Given the description of an element on the screen output the (x, y) to click on. 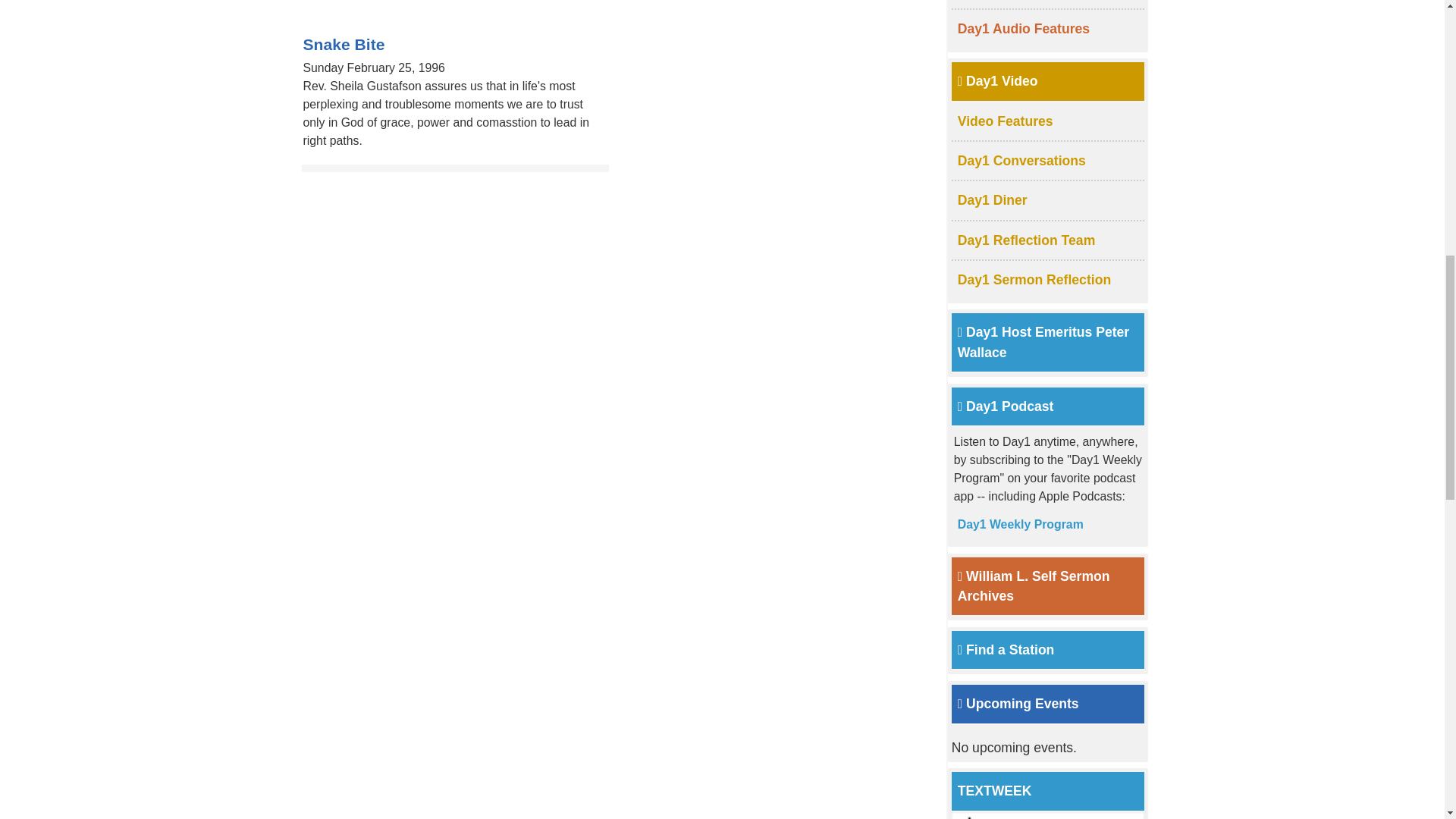
Video Features (1005, 120)
Day1 Conversations (1022, 160)
Day1 Diner (992, 200)
Day1 Audio Features (1023, 28)
Day1 Video (998, 80)
Day1 Reflection Team (1027, 240)
Snake Bite (343, 44)
